Given the description of an element on the screen output the (x, y) to click on. 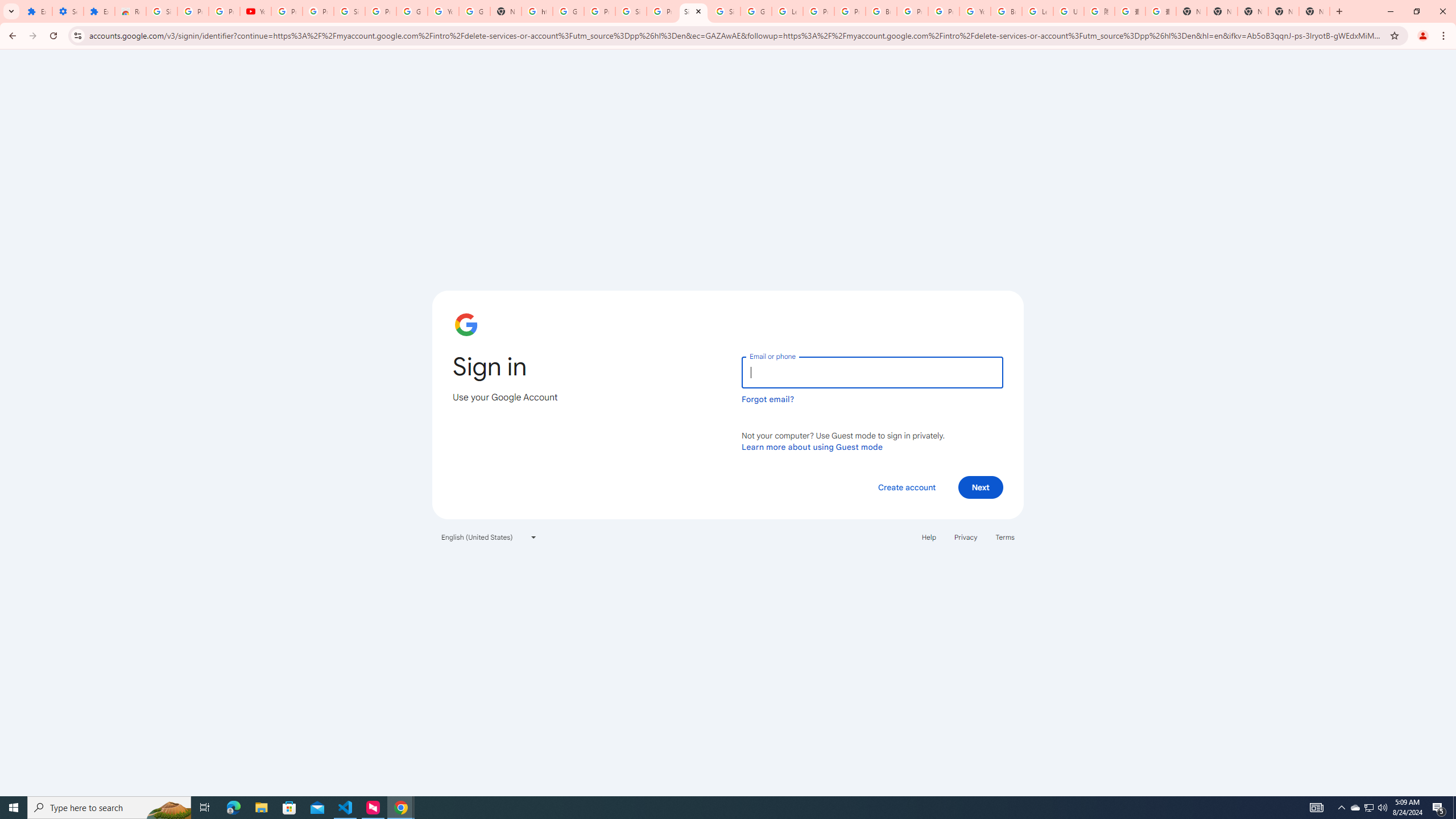
YouTube (974, 11)
Email or phone (871, 372)
